Given the description of an element on the screen output the (x, y) to click on. 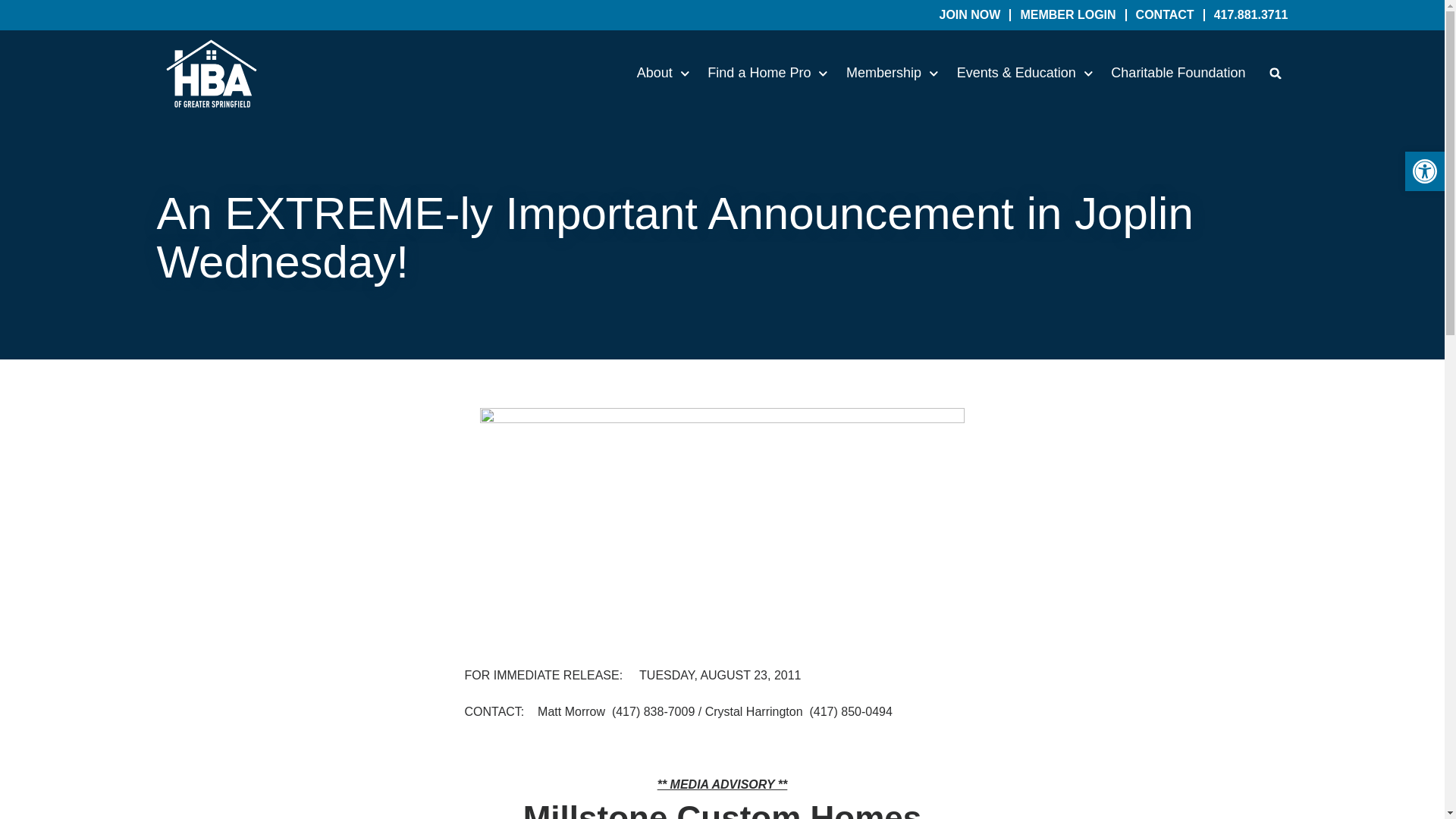
Membership (892, 73)
Find a Home Pro (767, 73)
About (663, 73)
417.881.3711 (1251, 15)
MEMBER LOGIN (1067, 15)
Accessibility Tools (1424, 170)
CONTACT (1164, 15)
JOIN NOW (969, 15)
HBAs - Millstone (721, 509)
